Given the description of an element on the screen output the (x, y) to click on. 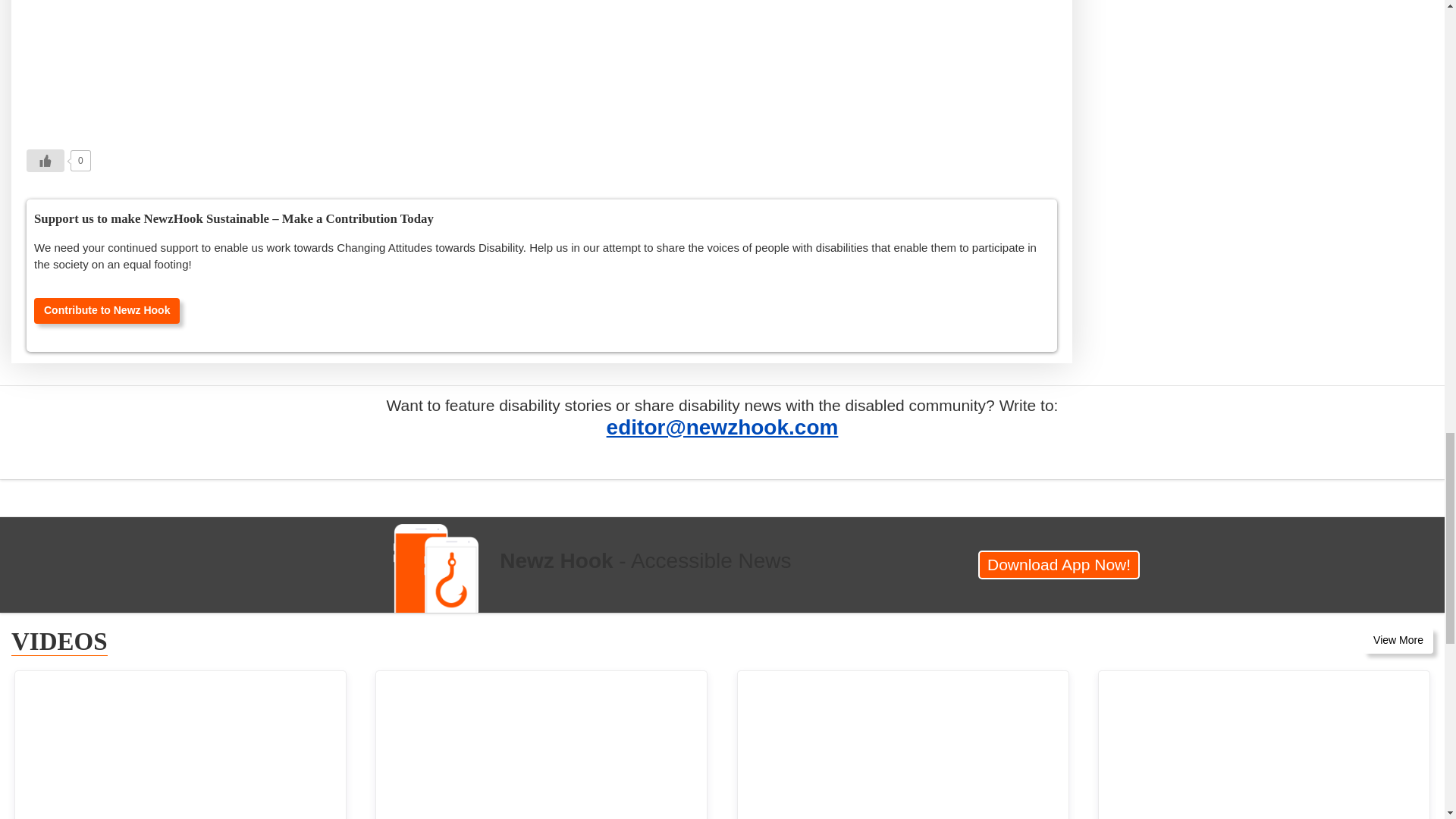
Colleges in Karnataka to reopen on 17 November (1264, 744)
